Given the description of an element on the screen output the (x, y) to click on. 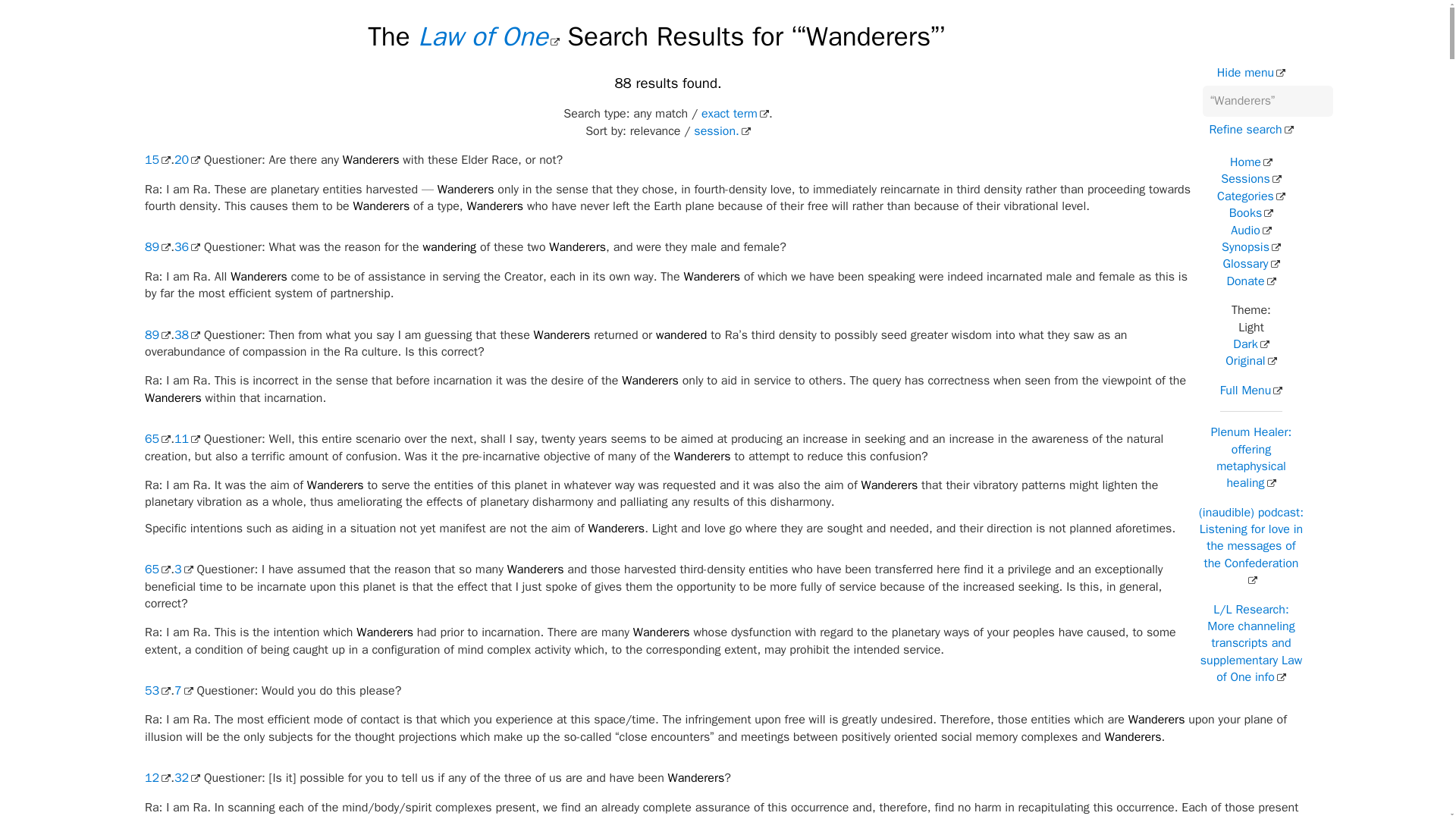
exact term (734, 113)
53 (157, 690)
12 (157, 777)
32 (187, 777)
7 (183, 690)
65 (157, 569)
89 (157, 335)
session. (721, 130)
15 (157, 159)
11 (187, 438)
65 (157, 438)
36 (187, 246)
Law of One (488, 36)
20 (187, 159)
3 (183, 569)
